Given the description of an element on the screen output the (x, y) to click on. 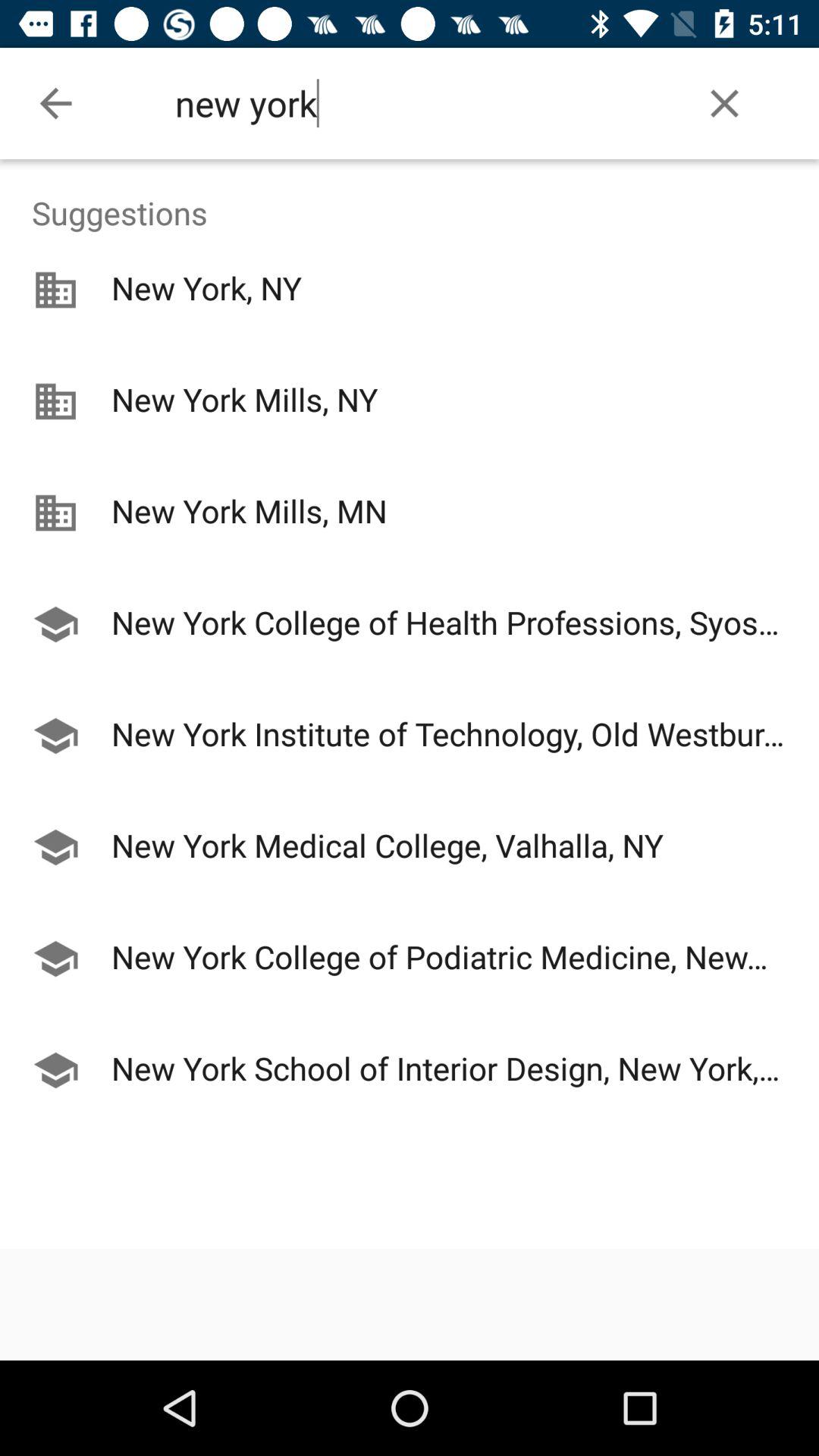
tap item at the top right corner (724, 103)
